Given the description of an element on the screen output the (x, y) to click on. 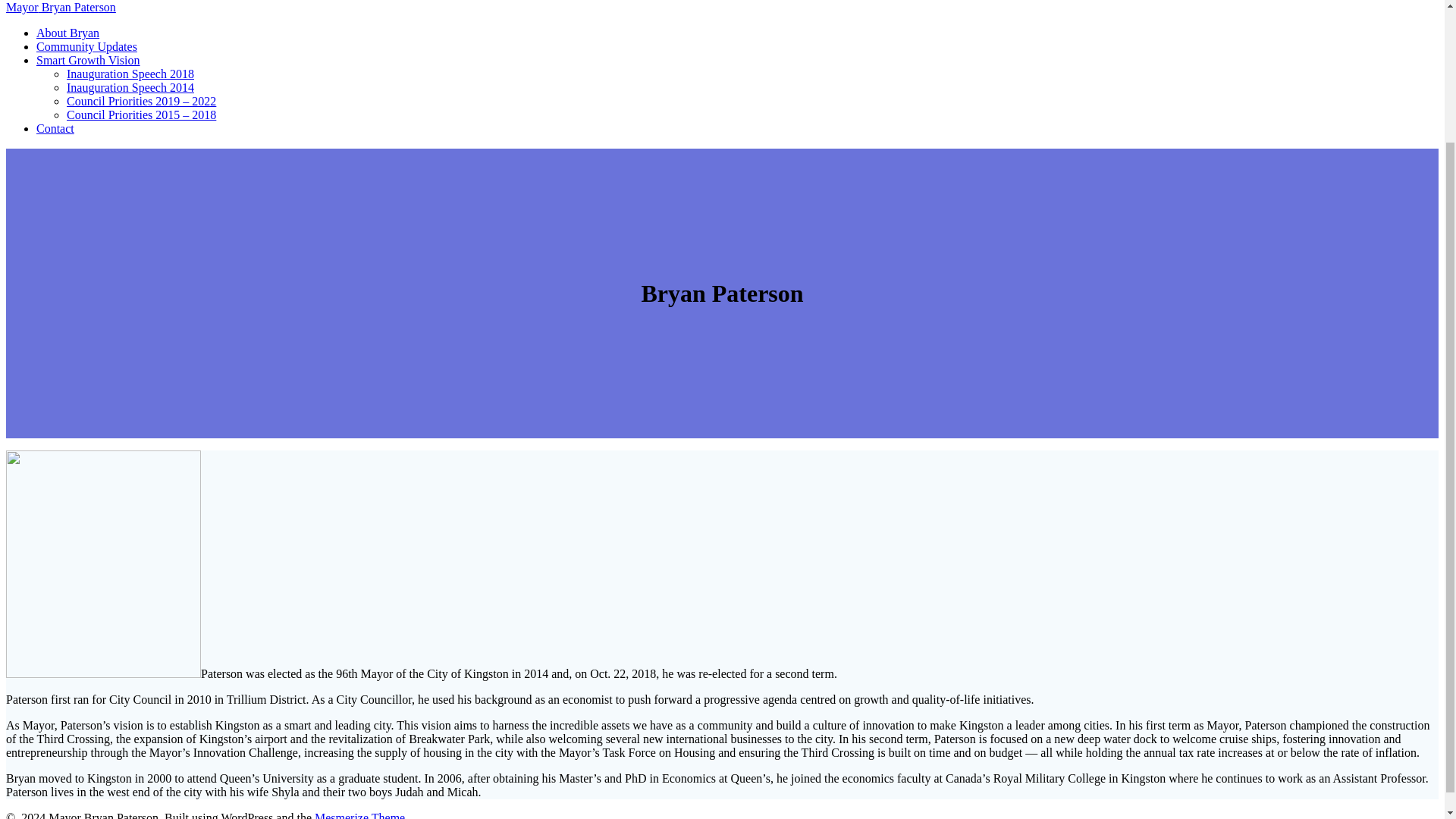
Mayor Bryan Paterson (60, 6)
About Bryan (67, 32)
Inauguration Speech 2014 (129, 87)
Contact (55, 128)
Inauguration Speech 2018 (129, 73)
Community Updates (86, 46)
Smart Growth Vision (87, 60)
